Given the description of an element on the screen output the (x, y) to click on. 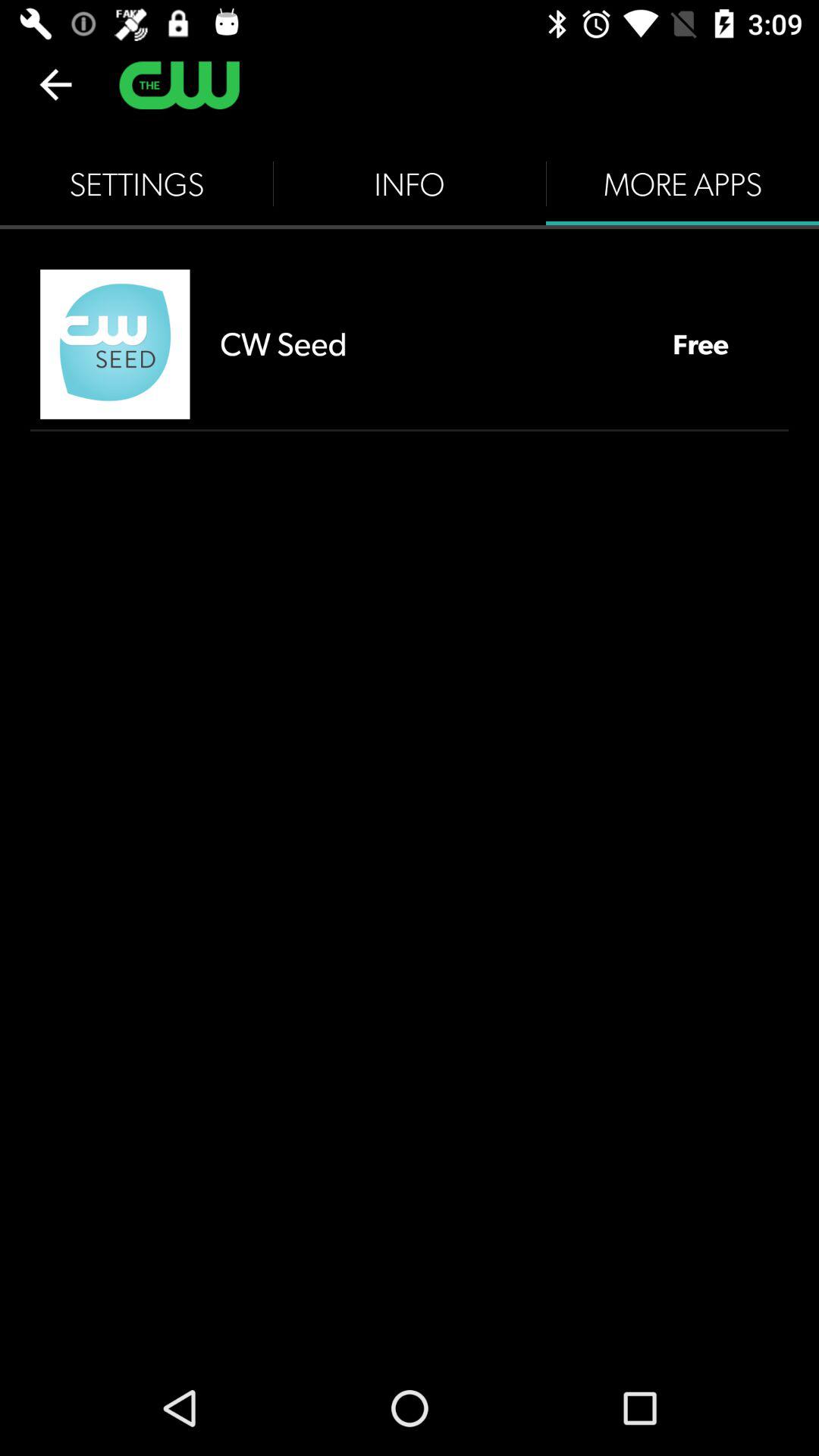
turn off the item above cw seed item (409, 184)
